Given the description of an element on the screen output the (x, y) to click on. 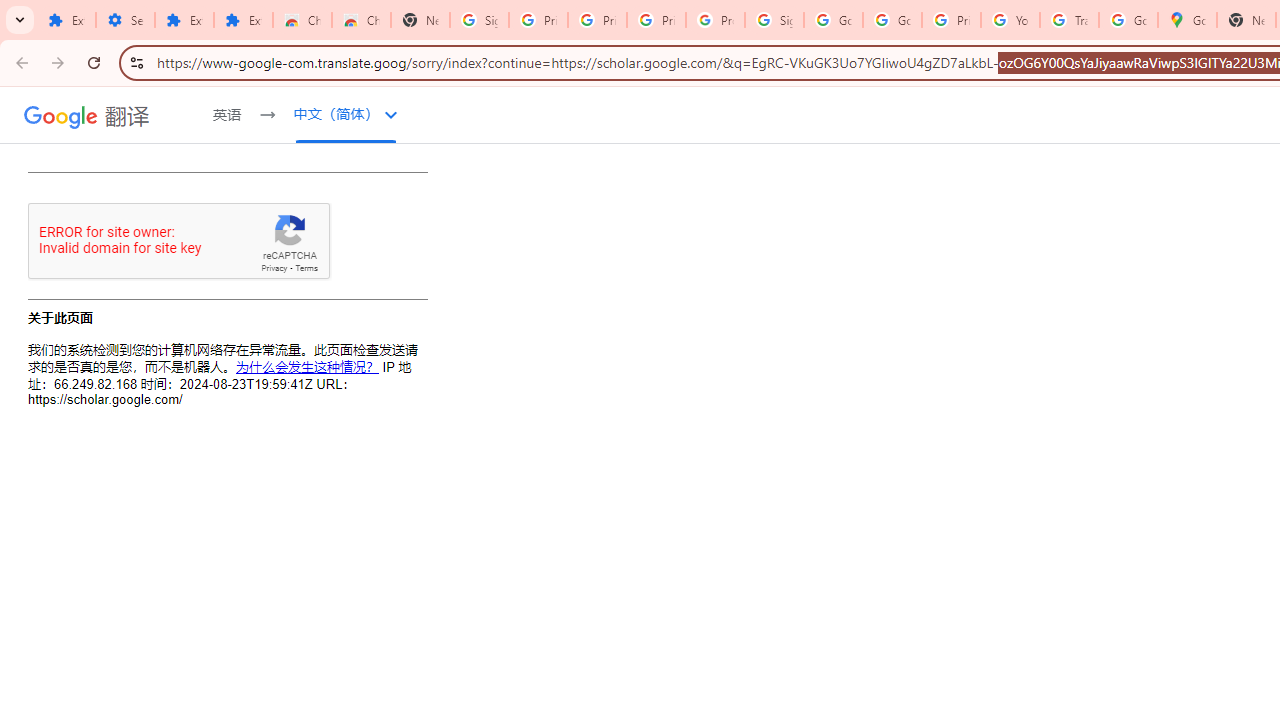
Chrome Web Store (301, 20)
